Given the description of an element on the screen output the (x, y) to click on. 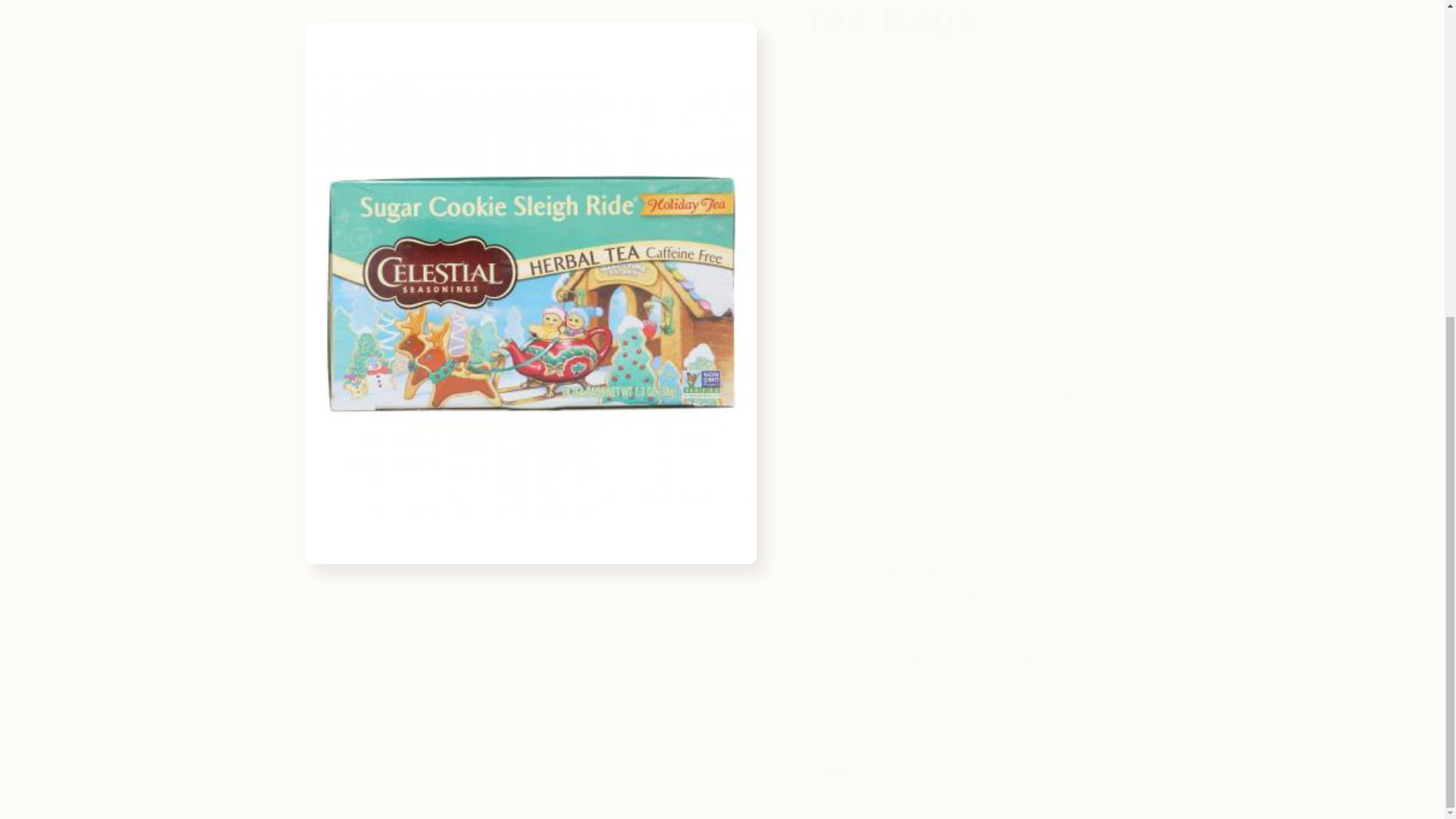
Open media 1 in modal (529, 129)
Add to cart (968, 171)
1 (856, 117)
